Given the description of an element on the screen output the (x, y) to click on. 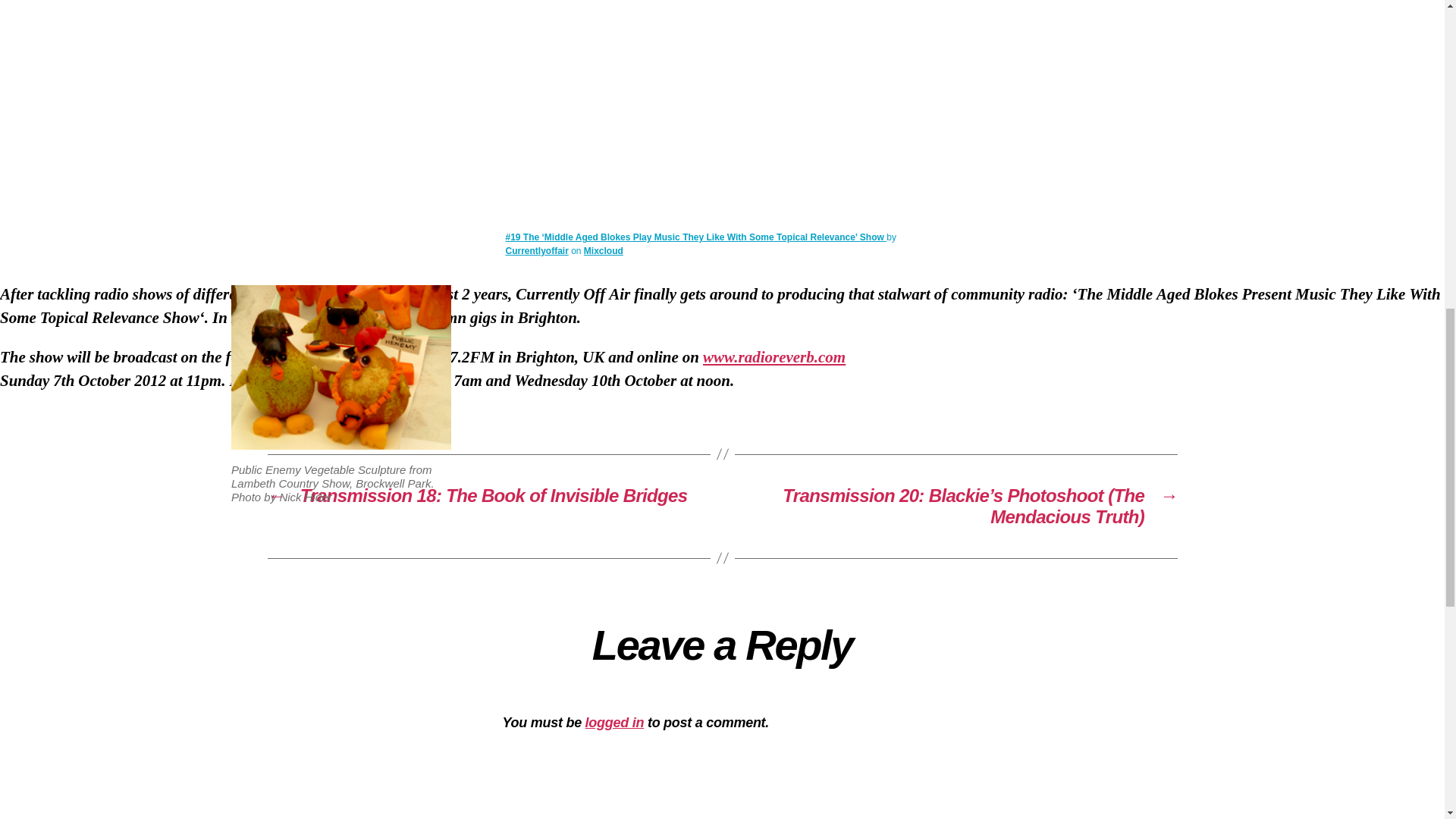
logged in (615, 722)
Mixcloud (603, 250)
www.radioreverb.com (774, 357)
Currentlyoffair (536, 250)
